Given the description of an element on the screen output the (x, y) to click on. 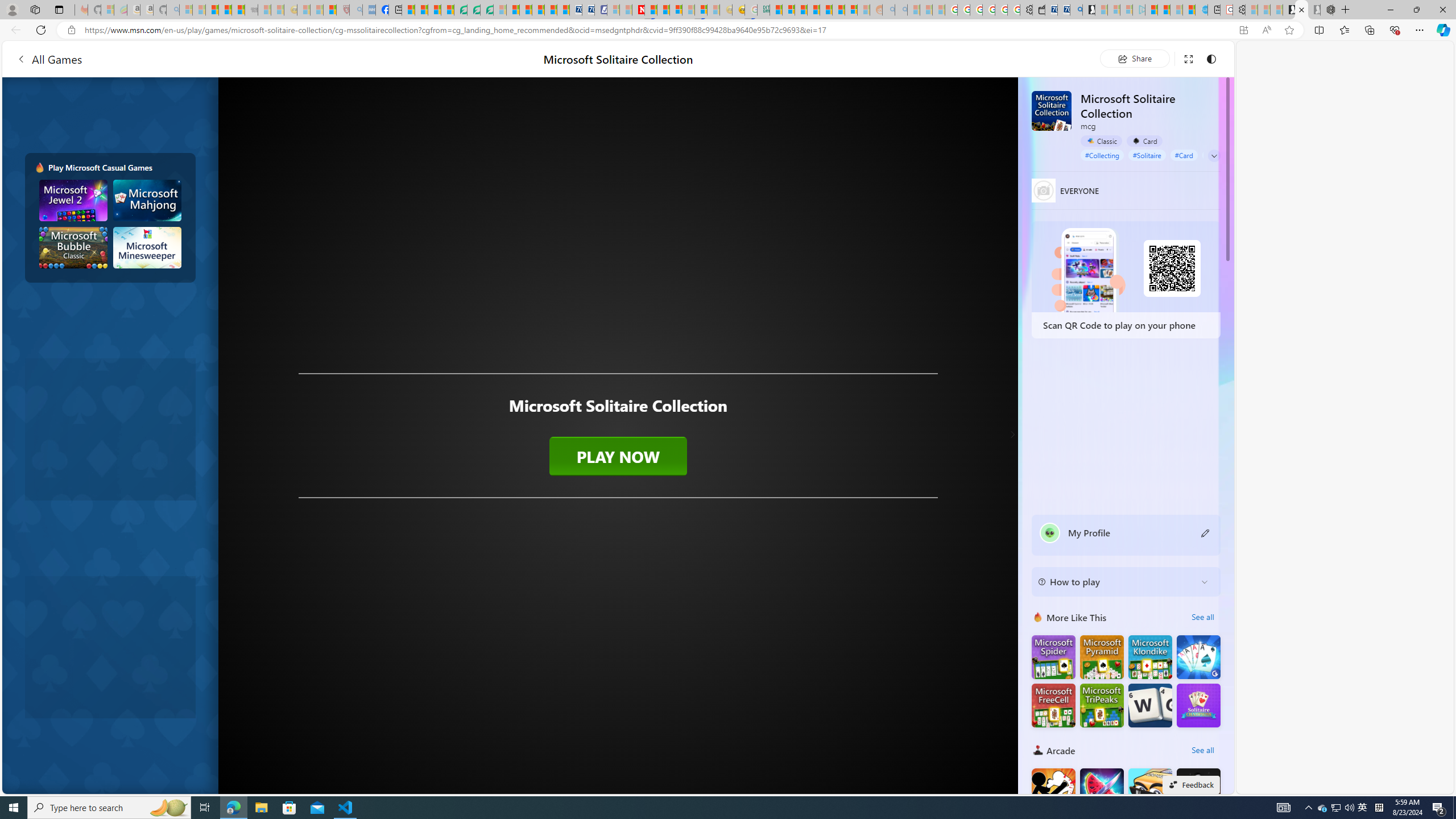
Microsoft Solitaire Collection (1051, 110)
Card (1143, 141)
New Report Confirms 2023 Was Record Hot | Watch (237, 9)
Classic (1101, 140)
The Weather Channel - MSN (212, 9)
